Given the description of an element on the screen output the (x, y) to click on. 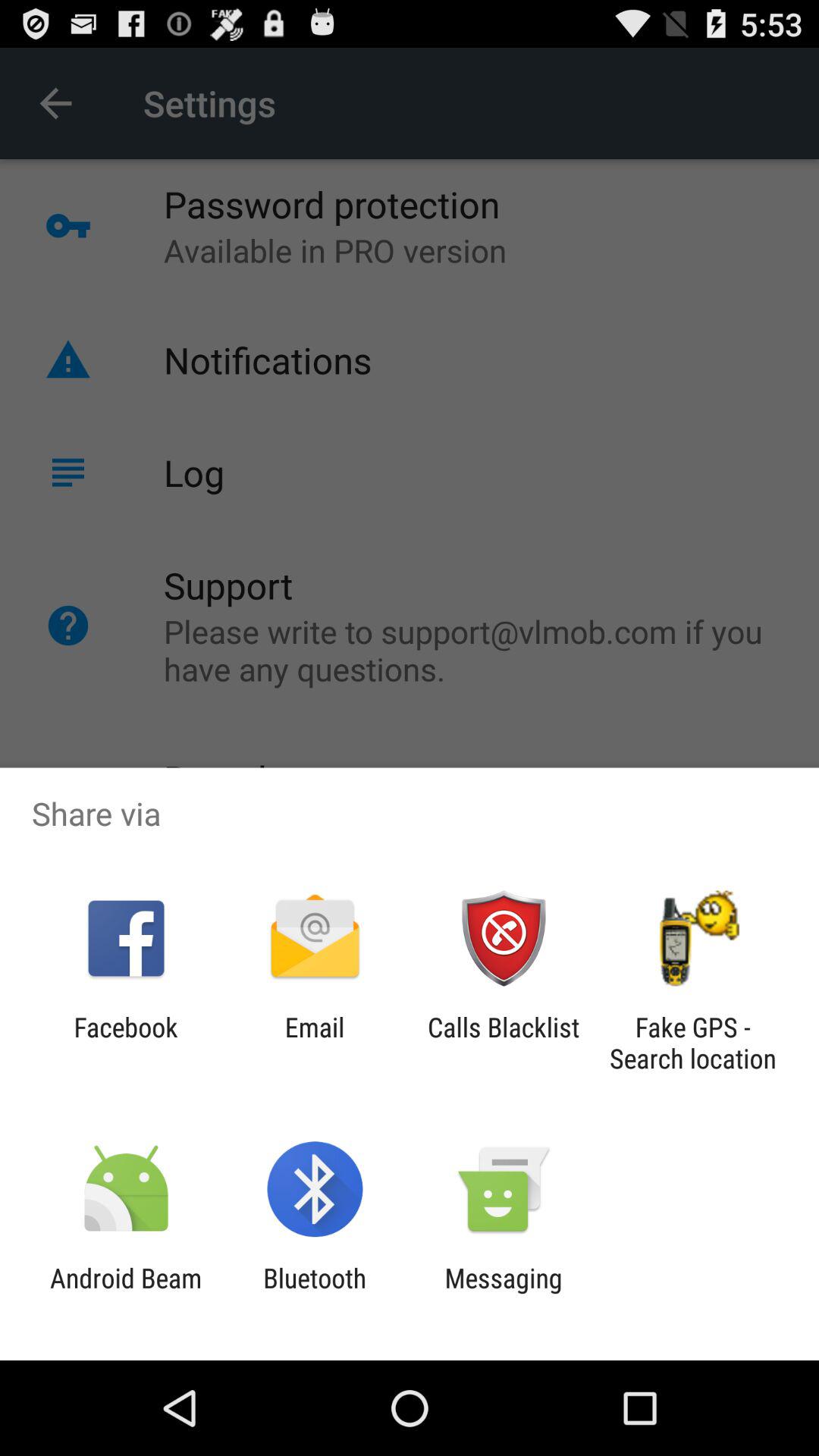
click the icon to the left of the fake gps search app (503, 1042)
